Given the description of an element on the screen output the (x, y) to click on. 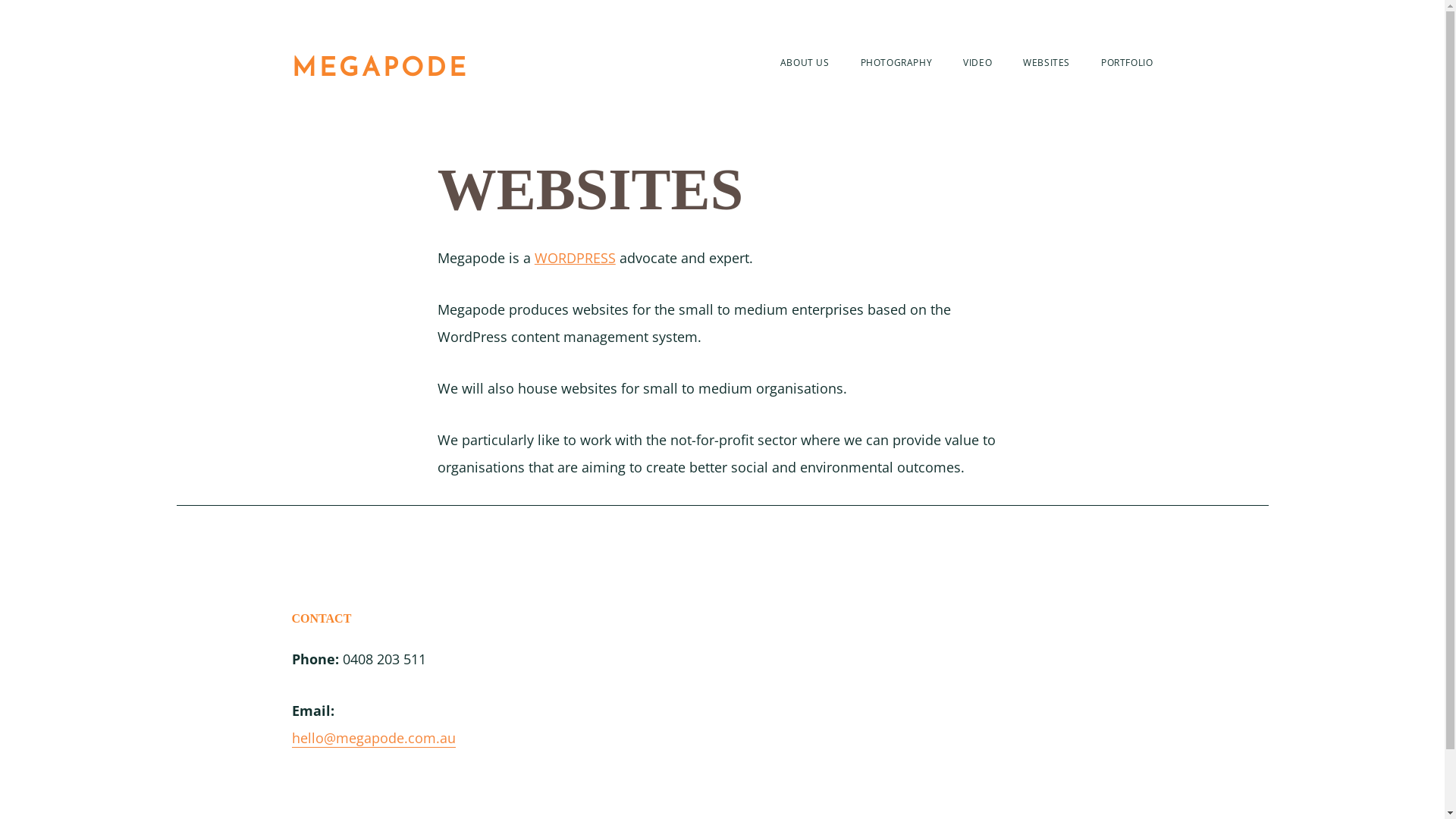
MEGAPODE Element type: text (379, 69)
Skip to primary navigation Element type: text (175, 0)
WEBSITES Element type: text (1046, 62)
PORTFOLIO Element type: text (1126, 62)
hello@megapode.com.au Element type: text (373, 737)
ABOUT US Element type: text (804, 62)
VIDEO Element type: text (977, 62)
PHOTOGRAPHY Element type: text (896, 62)
WORDPRESS Element type: text (574, 257)
